Given the description of an element on the screen output the (x, y) to click on. 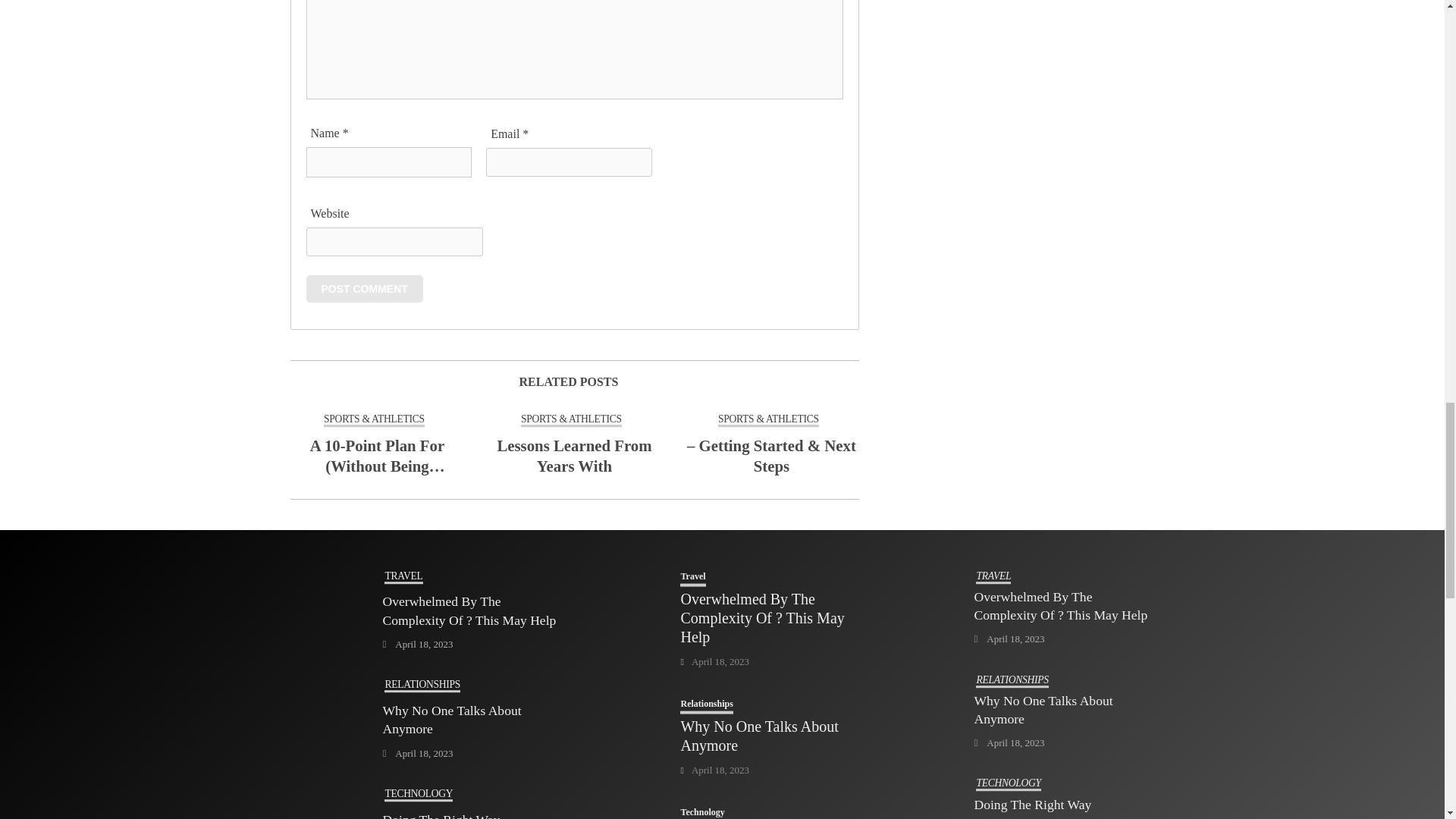
Post Comment (364, 288)
